Given the description of an element on the screen output the (x, y) to click on. 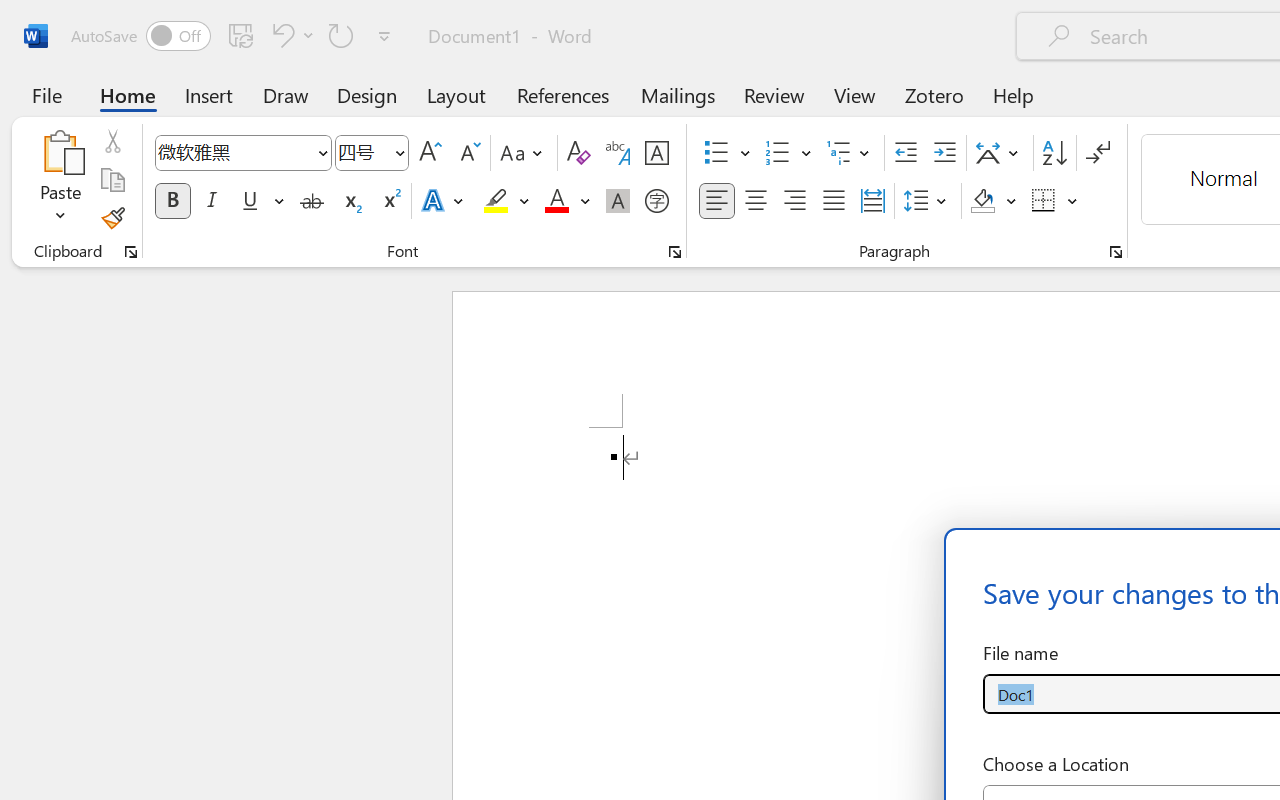
Repeat Style (341, 35)
